Given the description of an element on the screen output the (x, y) to click on. 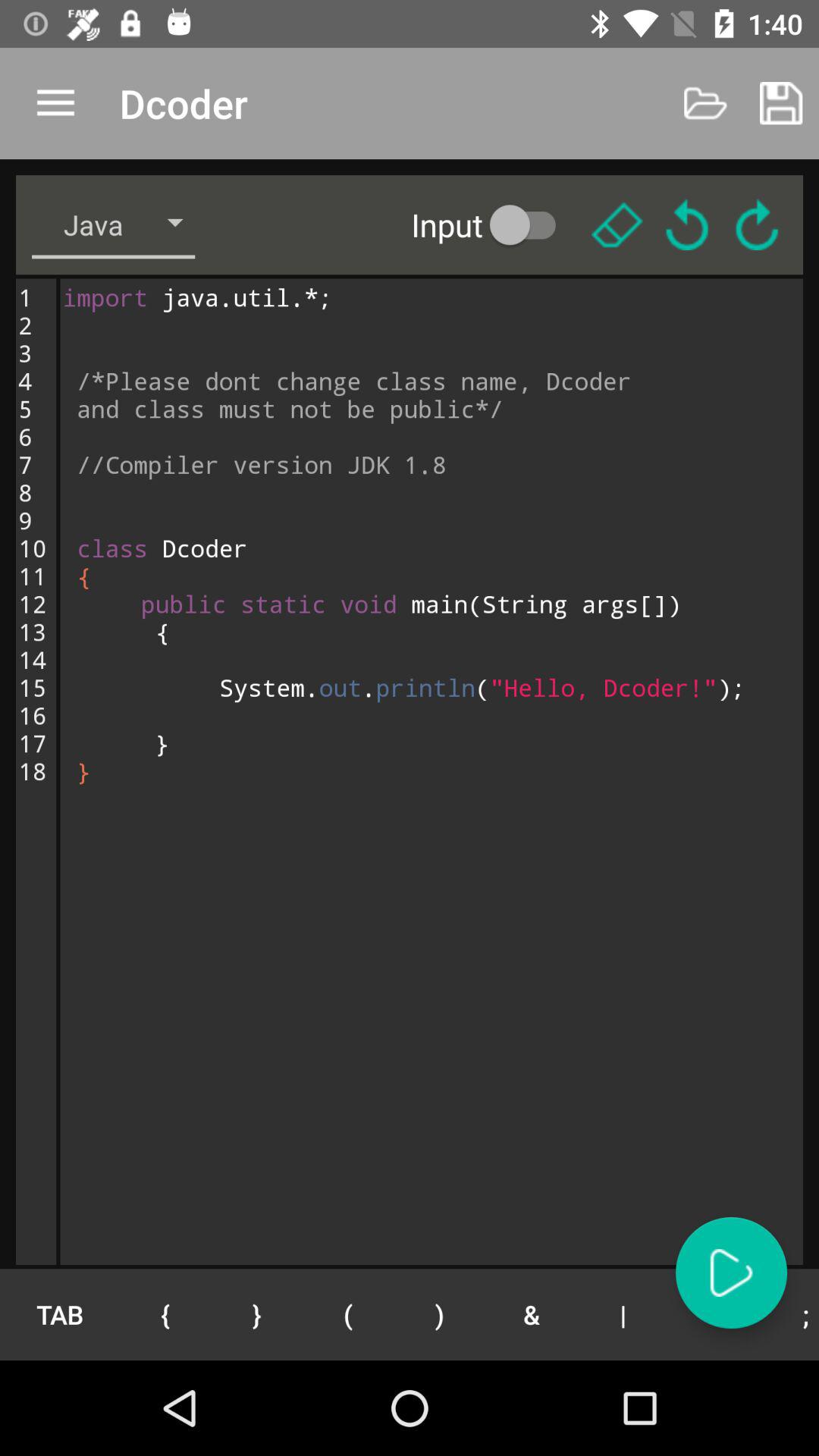
turn on icon above the java (55, 103)
